Given the description of an element on the screen output the (x, y) to click on. 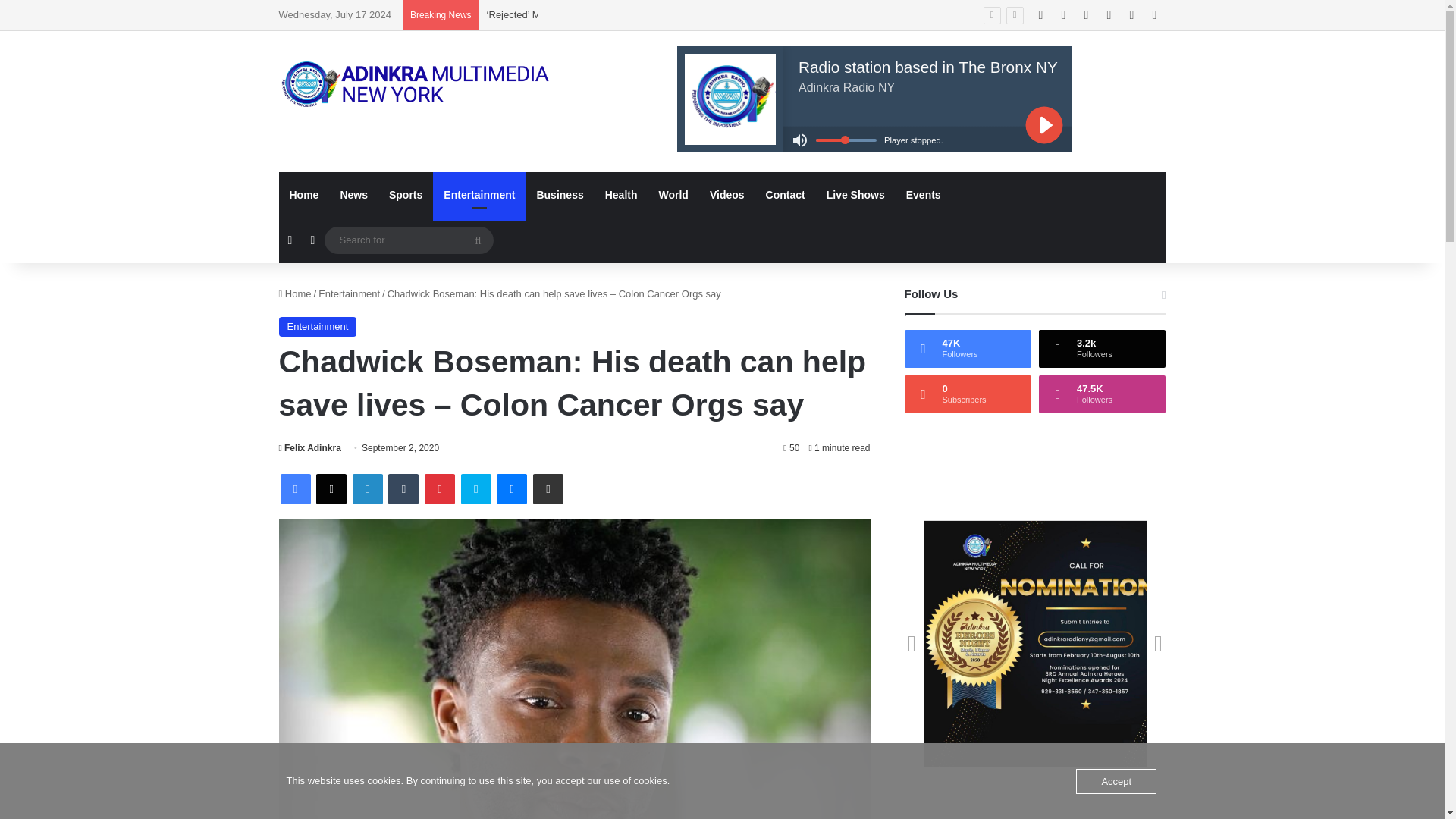
Live Shows (855, 194)
Home (295, 293)
Search for (478, 239)
Home (304, 194)
Pinterest (439, 489)
Sports (405, 194)
Health (620, 194)
Skype (476, 489)
Entertainment (478, 194)
Entertainment (349, 293)
Facebook (296, 489)
Pinterest (439, 489)
Videos (726, 194)
Facebook (296, 489)
LinkedIn (367, 489)
